Given the description of an element on the screen output the (x, y) to click on. 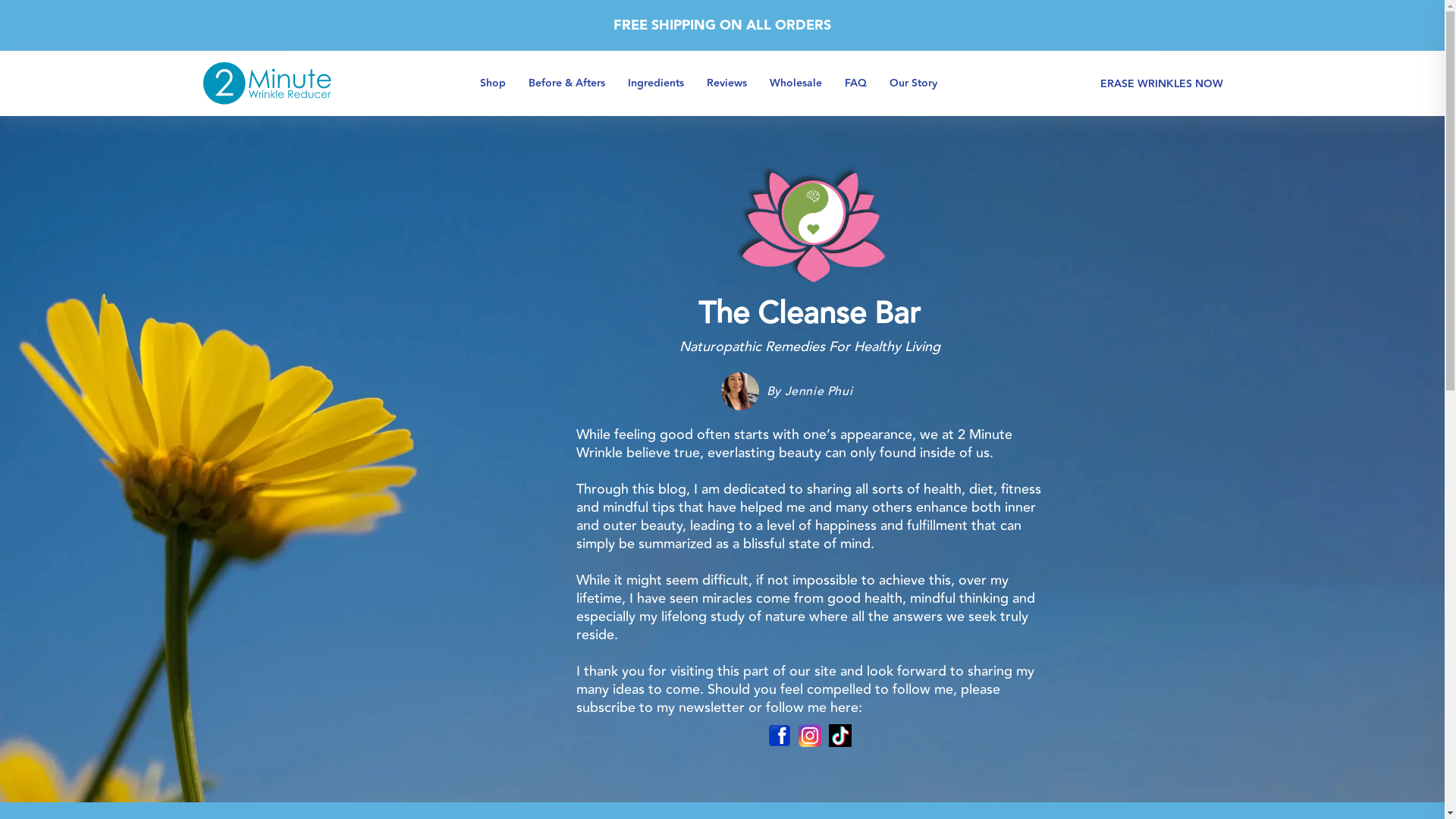
Ingredients Element type: text (655, 83)
Wholesale Element type: text (795, 83)
Reviews Element type: text (726, 83)
Shop Element type: text (492, 83)
Before & Afters Element type: text (566, 83)
ERASE WRINKLES NOW Element type: text (1161, 83)
FAQ Element type: text (855, 83)
Our Story Element type: text (913, 83)
